Given the description of an element on the screen output the (x, y) to click on. 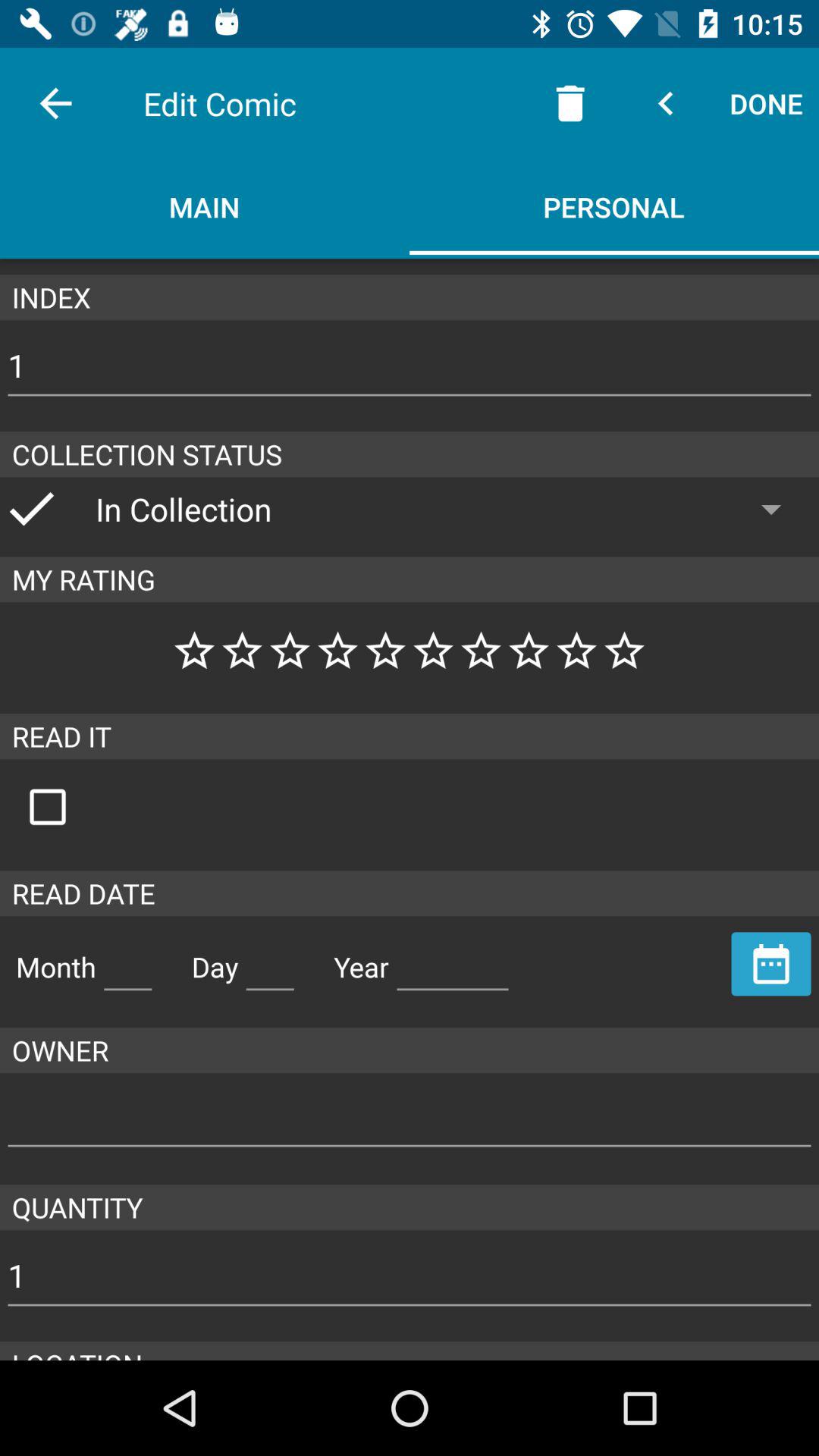
insert year (452, 961)
